Given the description of an element on the screen output the (x, y) to click on. 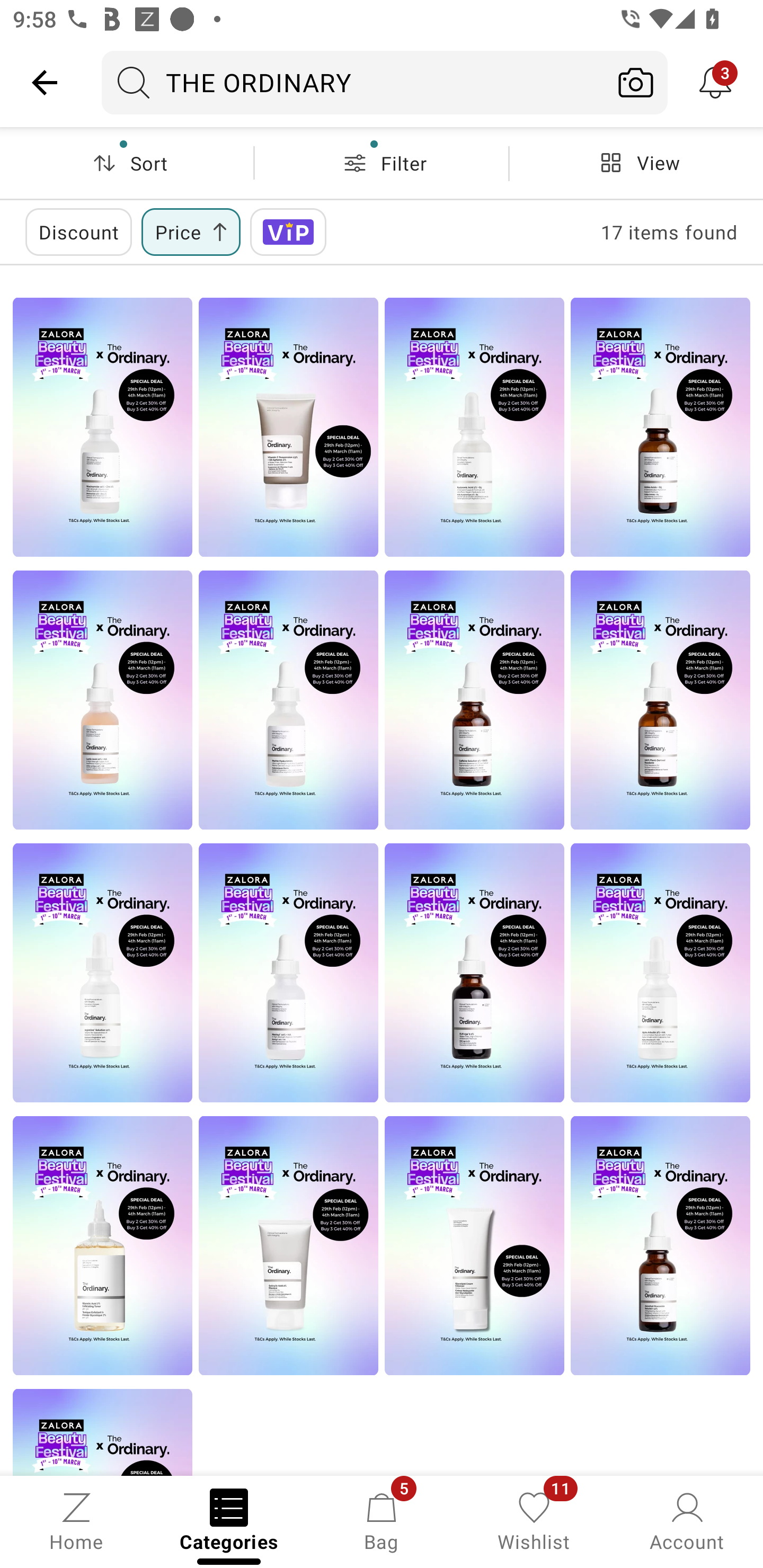
Navigate up (44, 82)
THE ORDINARY (352, 82)
Sort (126, 163)
Filter (381, 163)
View (636, 163)
Discount (78, 231)
Price (190, 231)
Home (76, 1519)
Bag, 5 new notifications Bag (381, 1519)
Wishlist, 11 new notifications Wishlist (533, 1519)
Account (686, 1519)
